Given the description of an element on the screen output the (x, y) to click on. 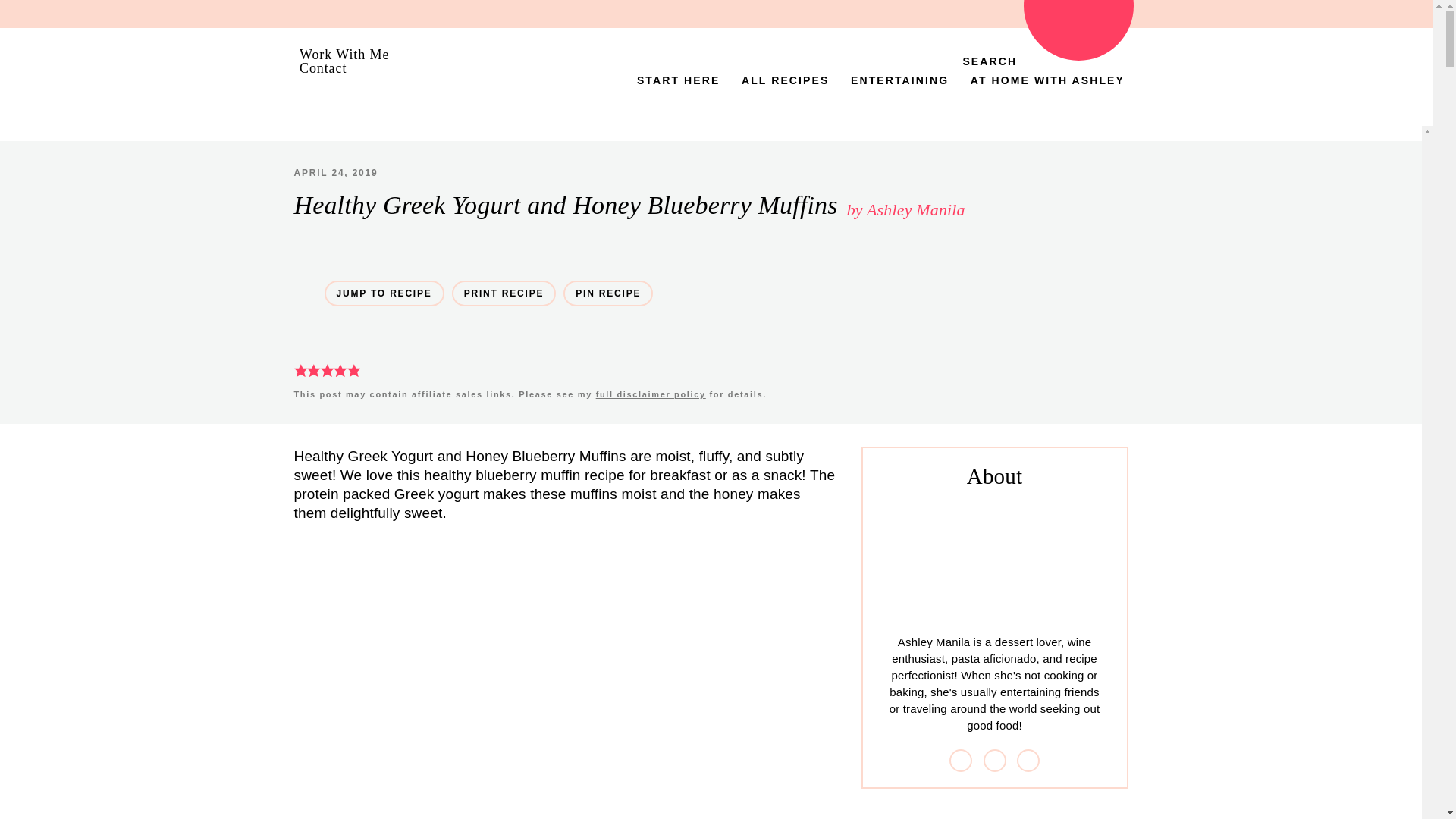
ALL RECIPES (785, 80)
ORDER THE HOME FOR THE HOLIDAYS COOKBOOK (1078, 30)
Contact (322, 68)
SEARCH (976, 60)
START HERE (678, 80)
ENTERTAINING (899, 80)
AT HOME WITH ASHLEY (1047, 80)
Work With Me (343, 54)
